Given the description of an element on the screen output the (x, y) to click on. 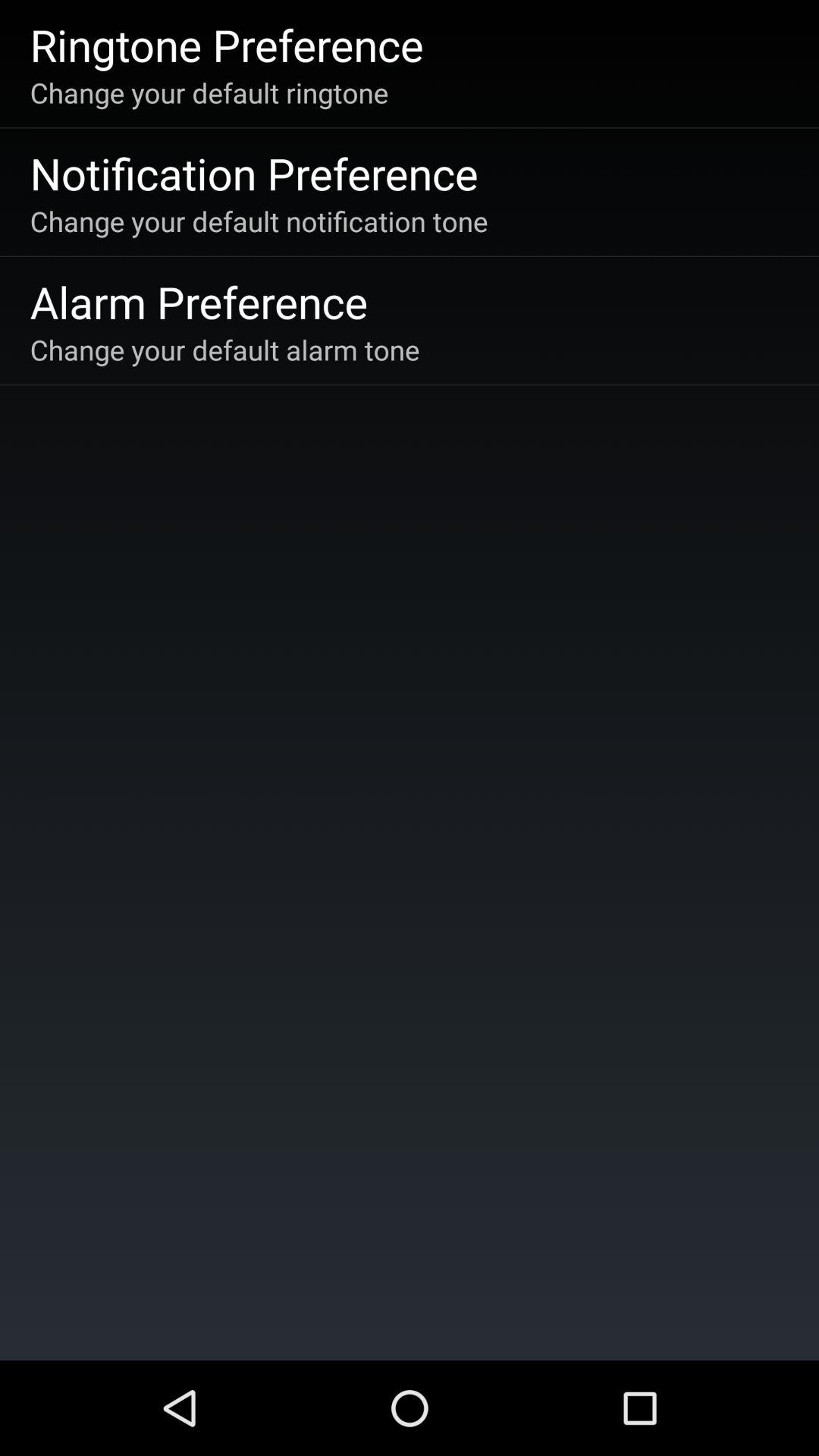
press the alarm preference icon (198, 301)
